Given the description of an element on the screen output the (x, y) to click on. 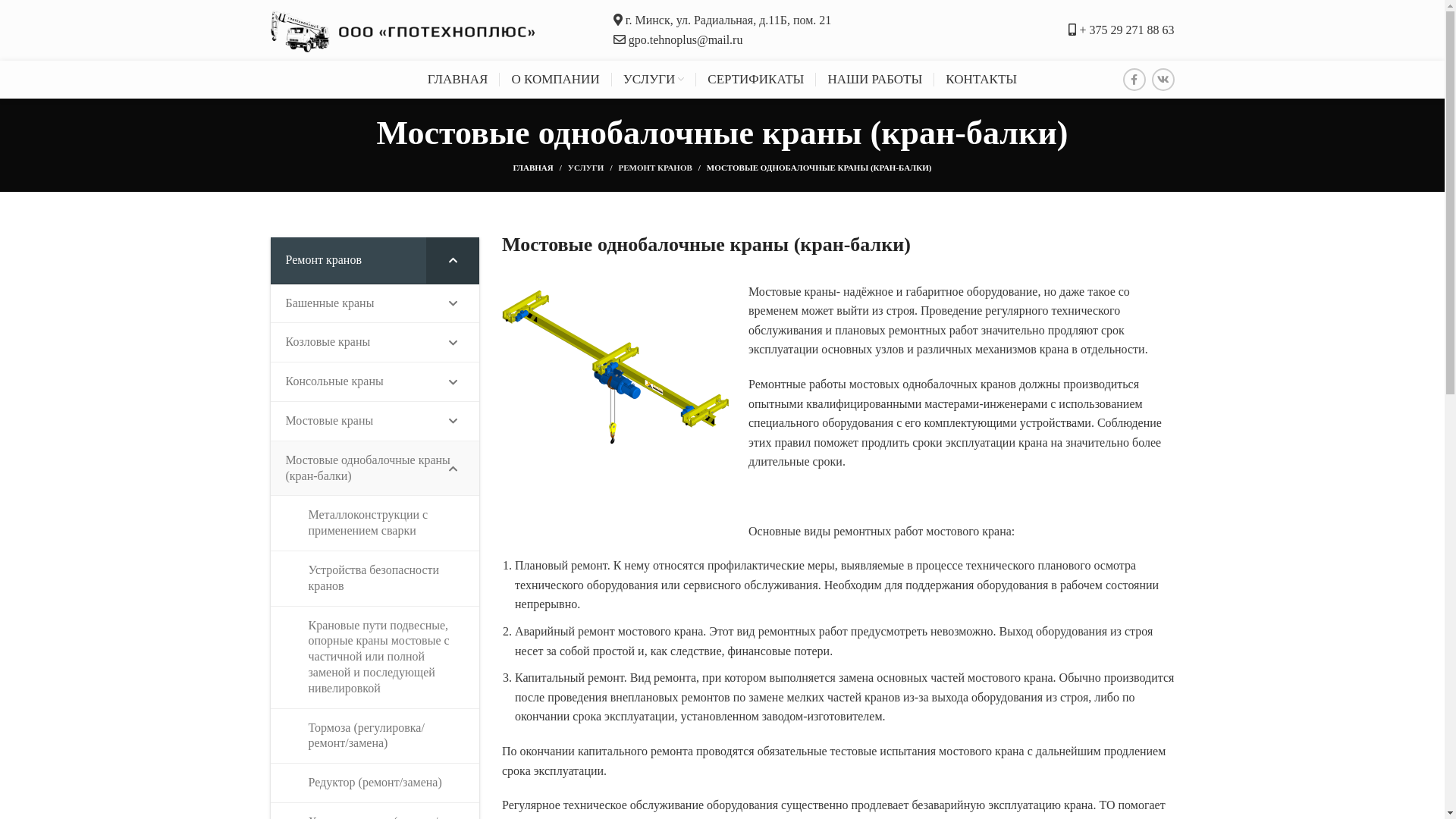
+ 375 29 271 88 63 Element type: text (1126, 29)
gpo.tehnoplus@mail.ru Element type: text (685, 39)
